Given the description of an element on the screen output the (x, y) to click on. 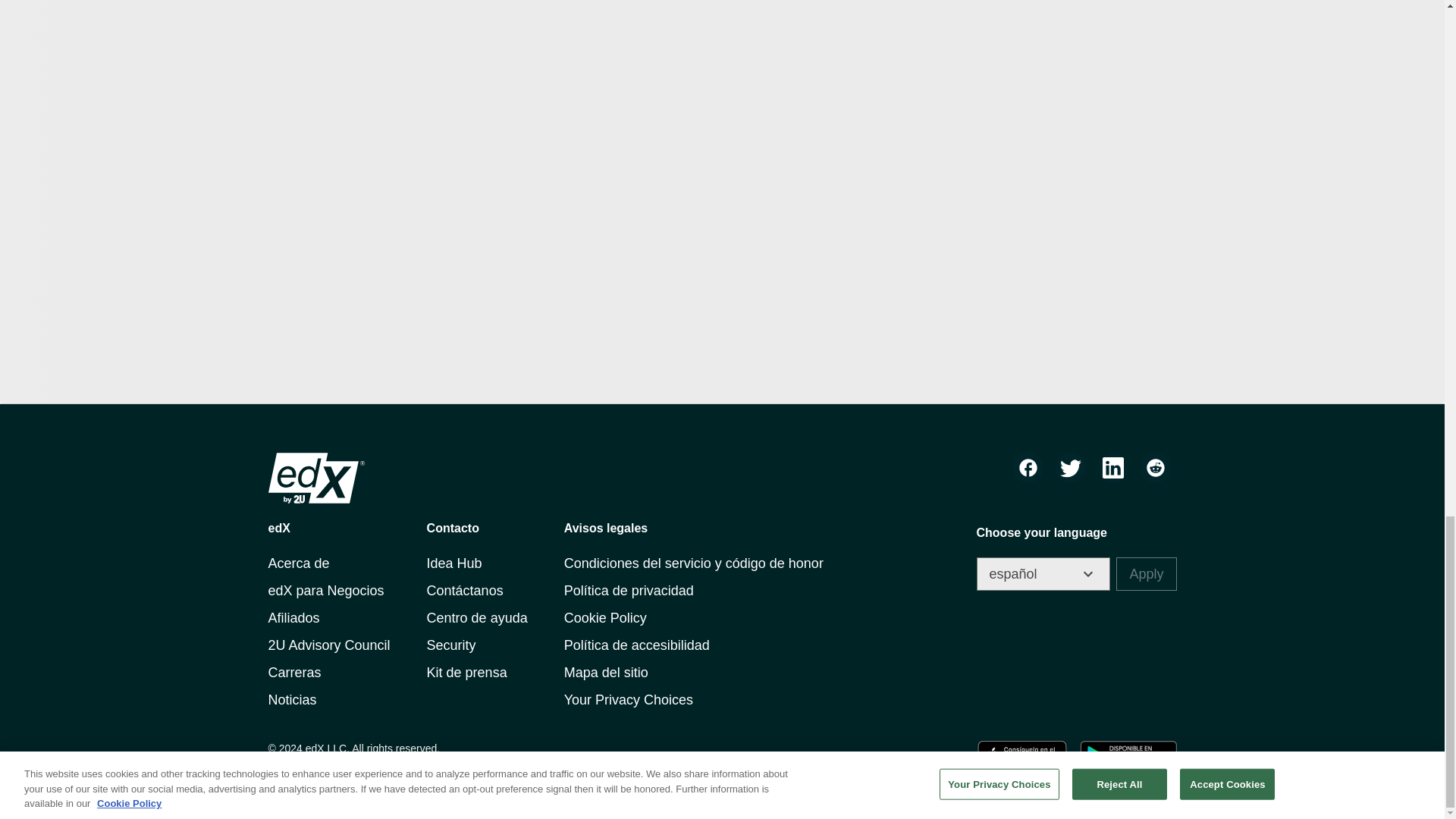
2U Advisory Council (328, 645)
Like edX on Facebook (1028, 467)
Kit de prensa (466, 672)
Subscribe to the edX subreddit (1155, 467)
Facebook (1028, 467)
LinkedIn (1112, 467)
Acerca de (298, 563)
Security (451, 645)
Follow edX on LinkedIn (1112, 467)
Centro de ayuda (476, 617)
